Given the description of an element on the screen output the (x, y) to click on. 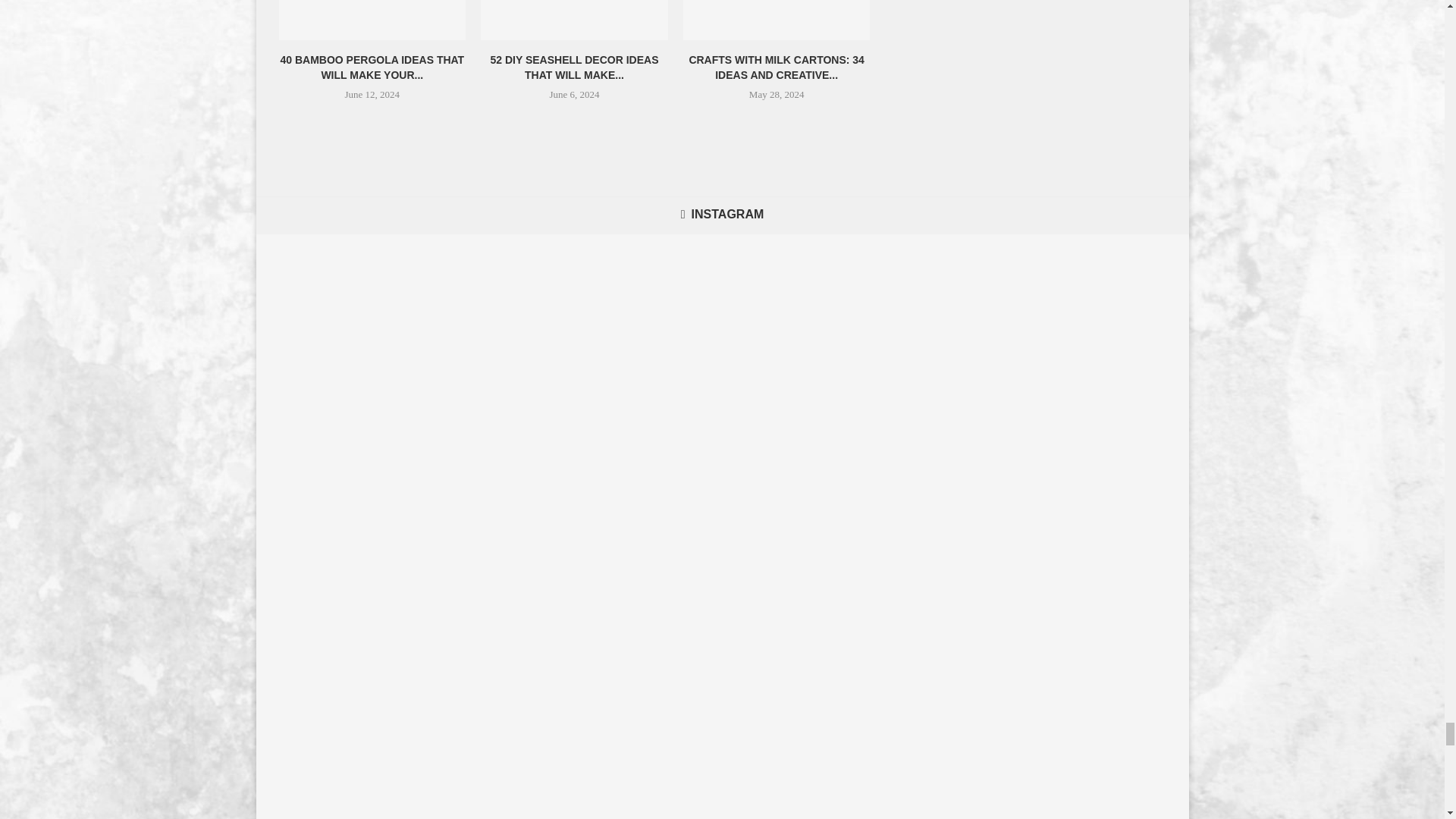
52 DIY Seashell Decor Ideas That Will Make Your Home Shine (574, 19)
Crafts with Milk Cartons: 34 Ideas and Creative Projects (776, 19)
